Given the description of an element on the screen output the (x, y) to click on. 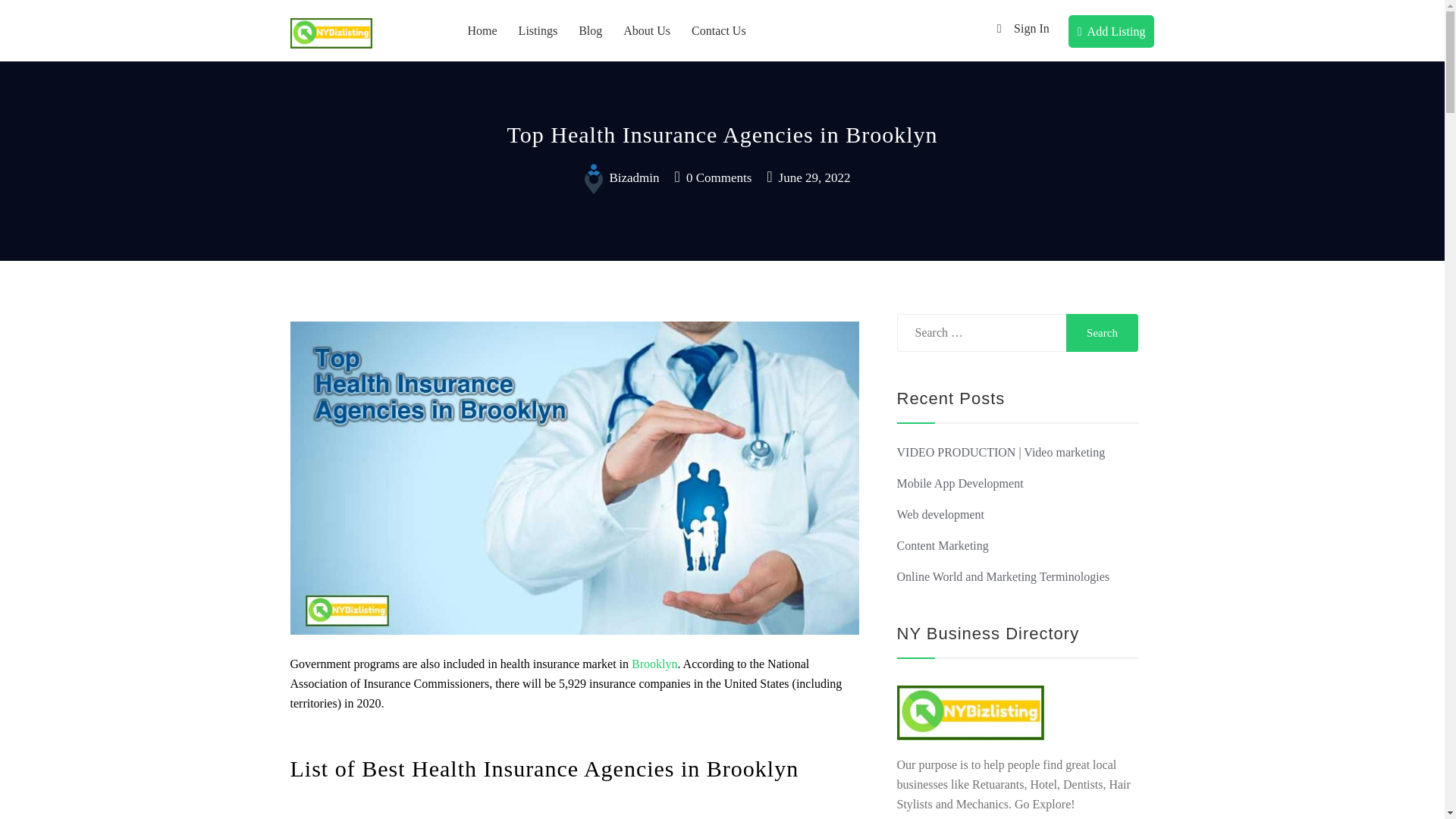
Sign In (1019, 28)
Listings (538, 30)
Listings (538, 30)
0 Comments (713, 177)
About Us (646, 30)
Add Listing (1111, 31)
Contact us (719, 30)
NYBIZListing (349, 67)
Search (1101, 332)
About us (646, 30)
